Given the description of an element on the screen output the (x, y) to click on. 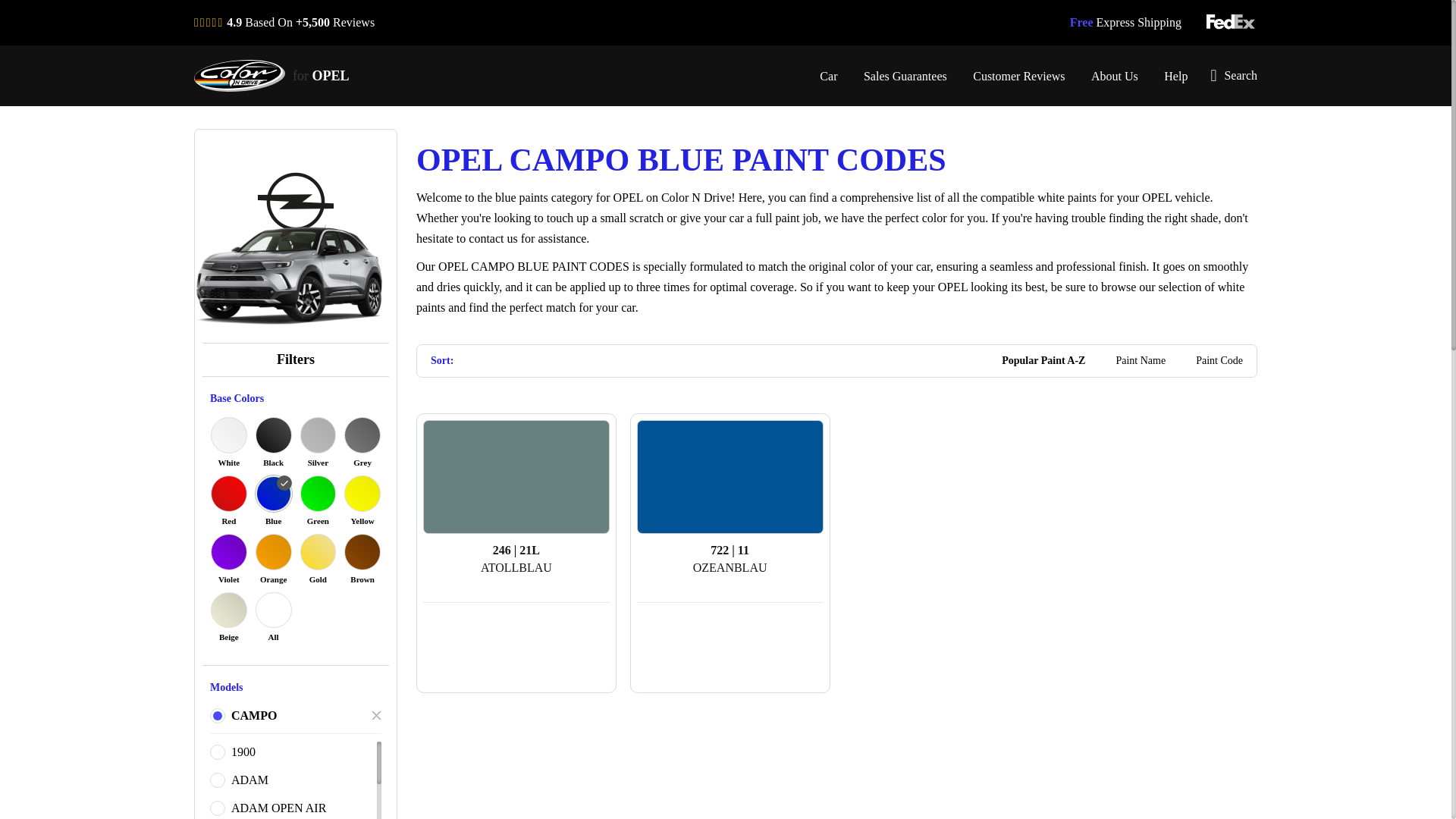
on (217, 715)
